Given the description of an element on the screen output the (x, y) to click on. 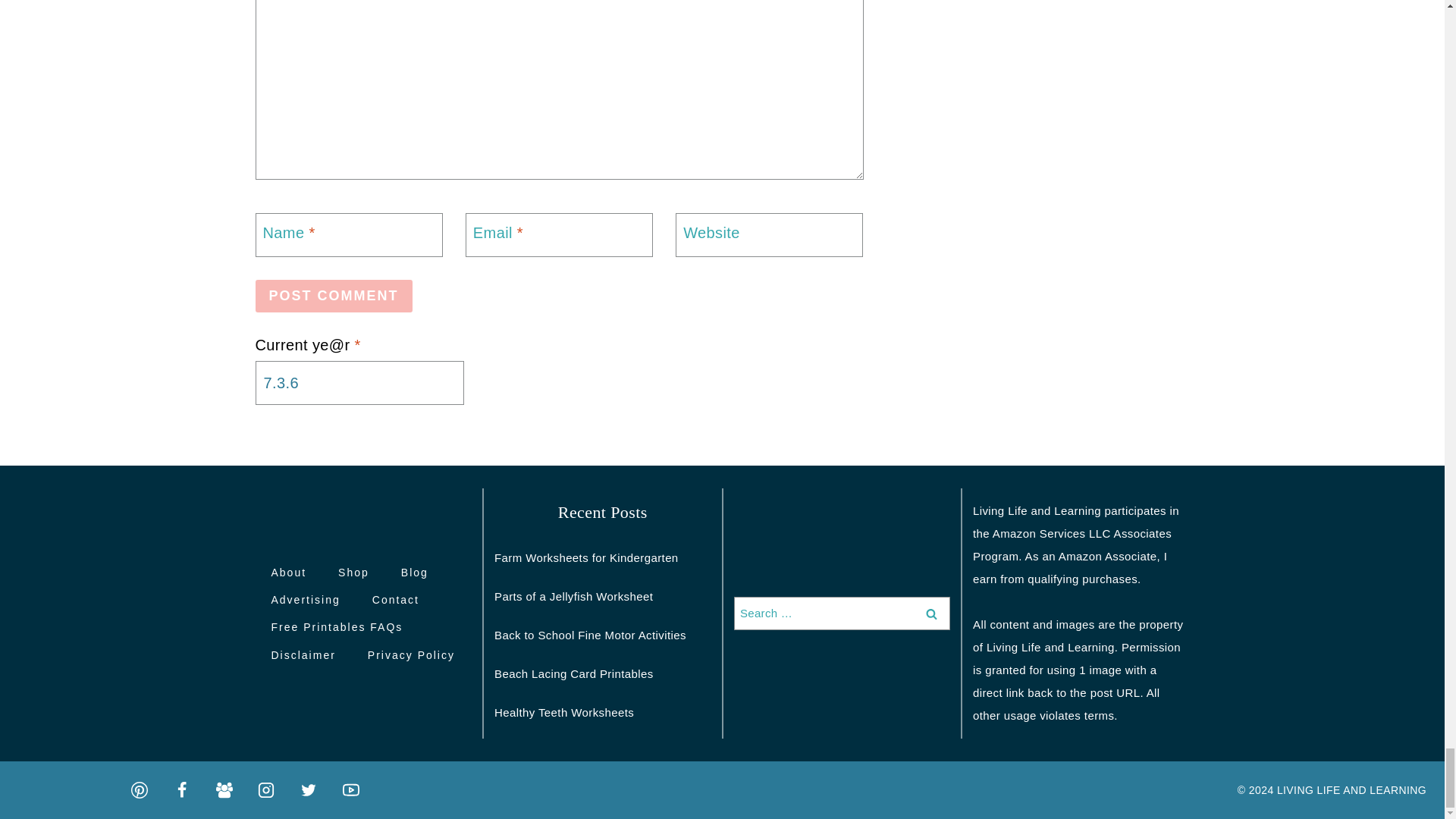
7.3.6 (358, 382)
Post Comment (333, 296)
Search (931, 613)
Search (931, 613)
